Given the description of an element on the screen output the (x, y) to click on. 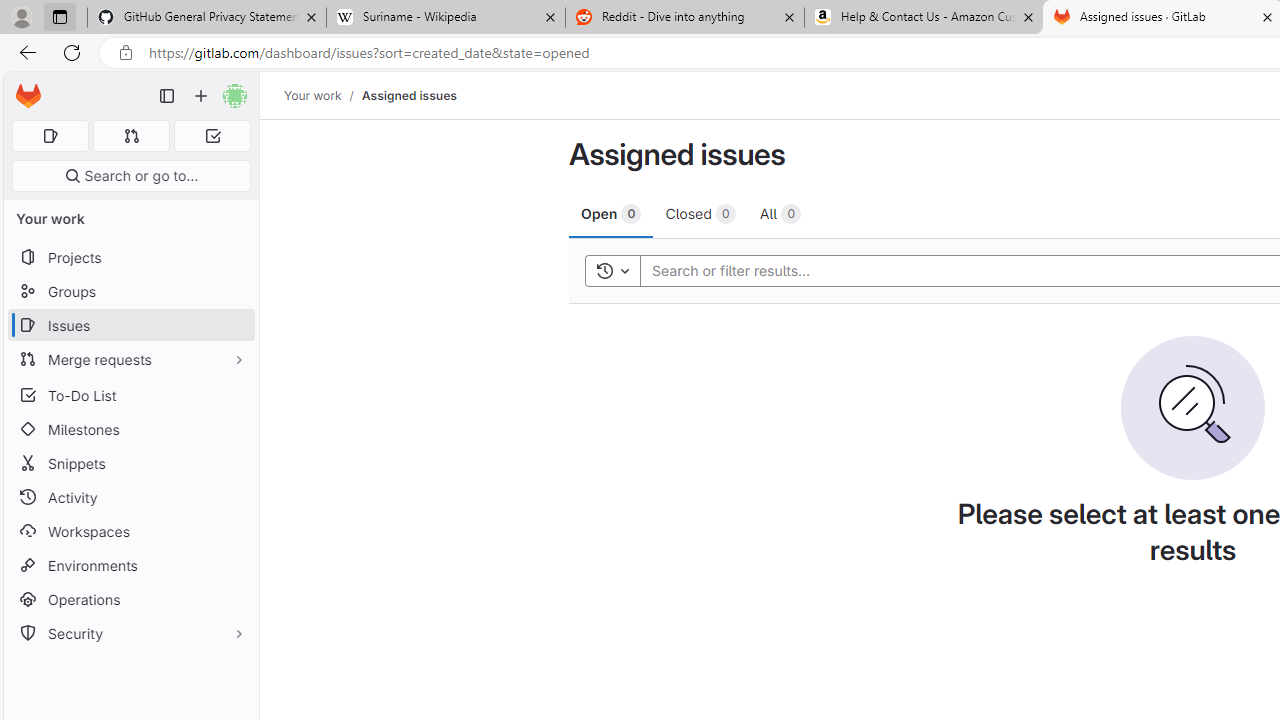
Merge requests (130, 358)
Help & Contact Us - Amazon Customer Service (924, 17)
Snippets (130, 463)
Suriname - Wikipedia (445, 17)
Security (130, 633)
Groups (130, 291)
Assigned issues (408, 95)
To-Do list 0 (212, 136)
Operations (130, 599)
Activity (130, 497)
To-Do List (130, 394)
Closed 0 (699, 213)
